Given the description of an element on the screen output the (x, y) to click on. 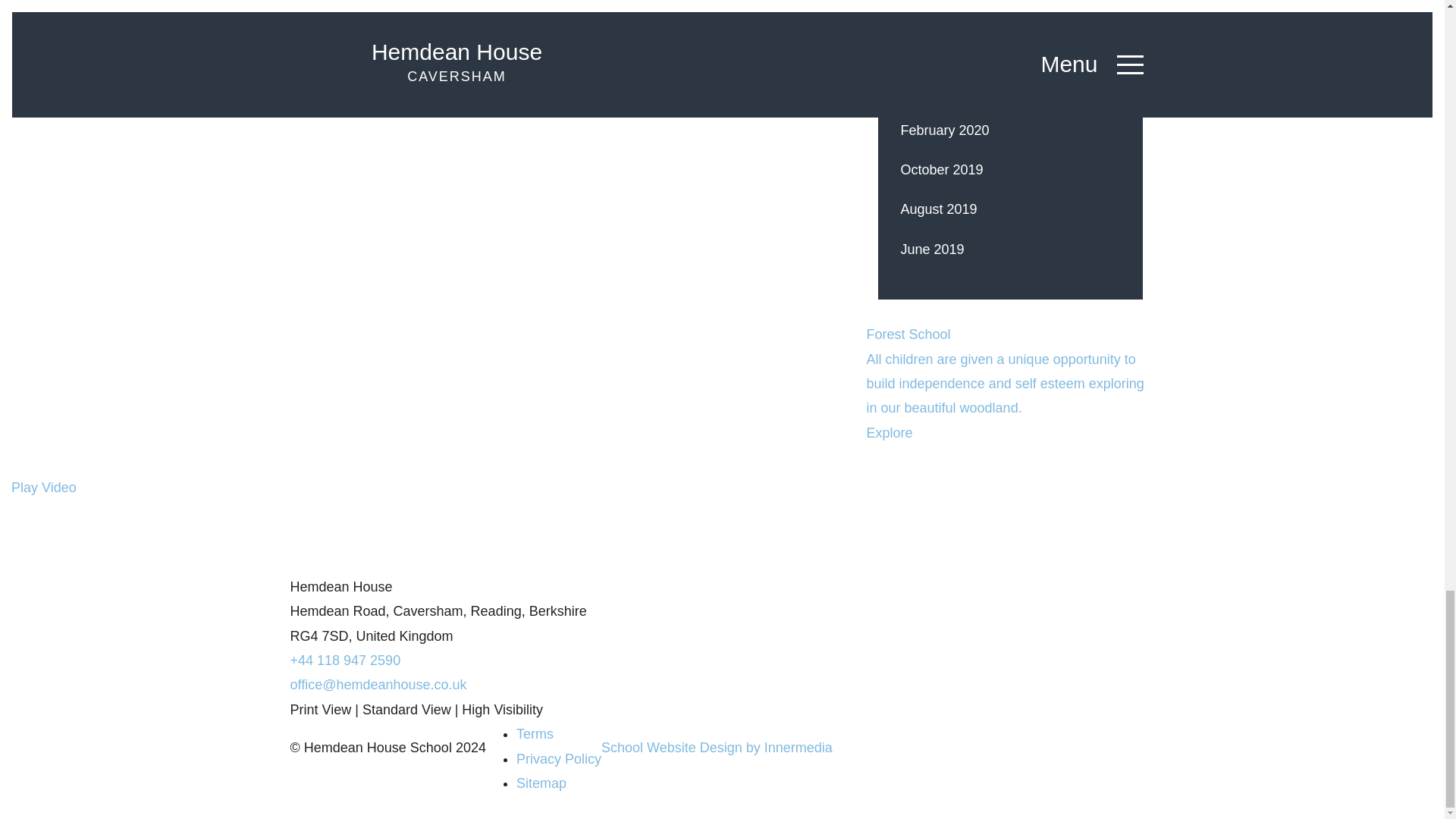
Play Video (721, 487)
Switch to Standard Visibility (406, 709)
Switch to High Visibility (502, 709)
Switch to Print (437, 537)
